Given the description of an element on the screen output the (x, y) to click on. 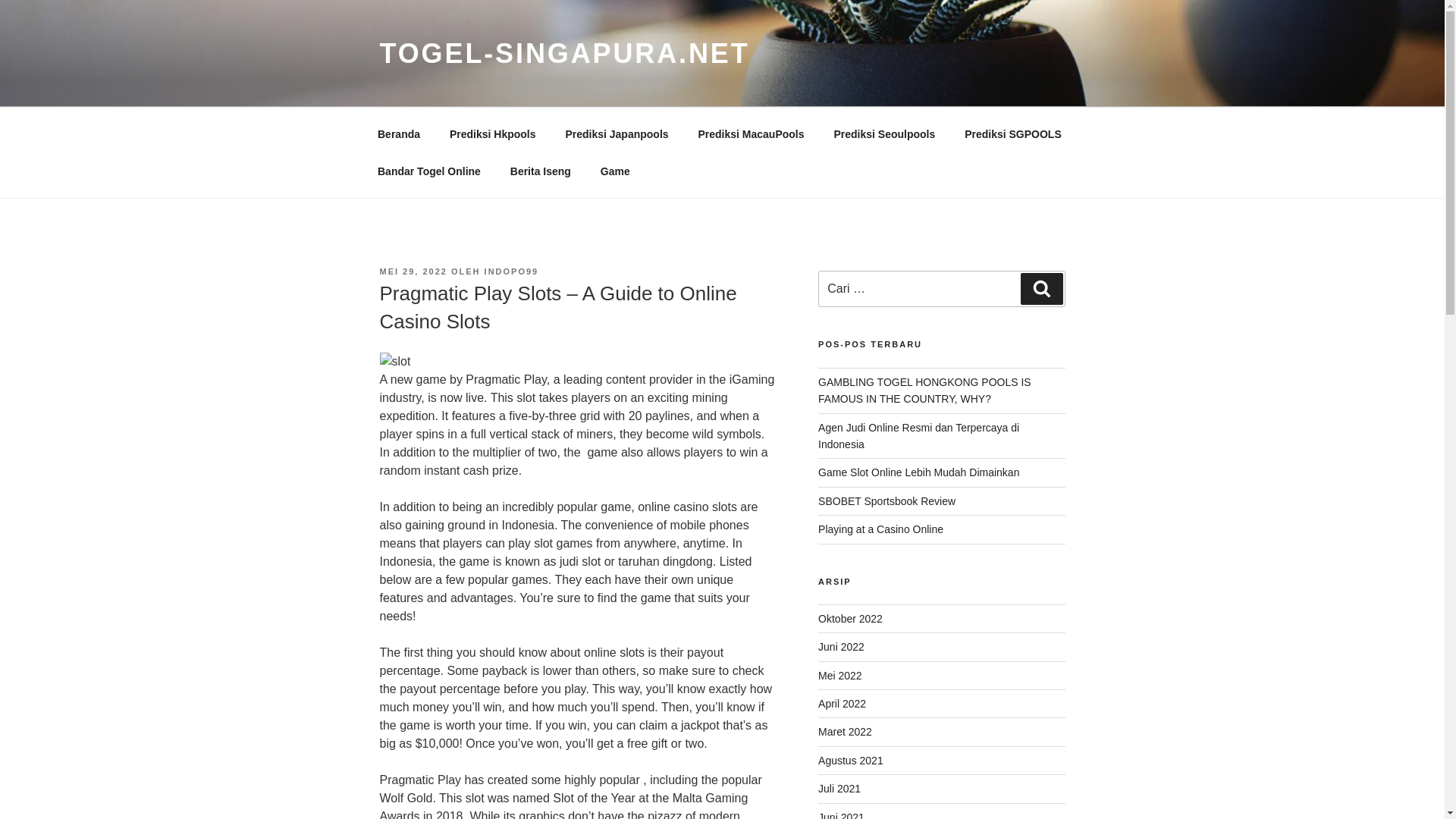
Mei 2022 (839, 675)
Juni 2022 (841, 646)
TOGEL-SINGAPURA.NET (563, 52)
Berita Iseng (539, 171)
MEI 29, 2022 (412, 271)
Agen Judi Online Resmi dan Terpercaya di Indonesia (918, 435)
Prediksi Hkpools (491, 133)
Juli 2021 (839, 788)
Cari (1041, 288)
Beranda (398, 133)
